Given the description of an element on the screen output the (x, y) to click on. 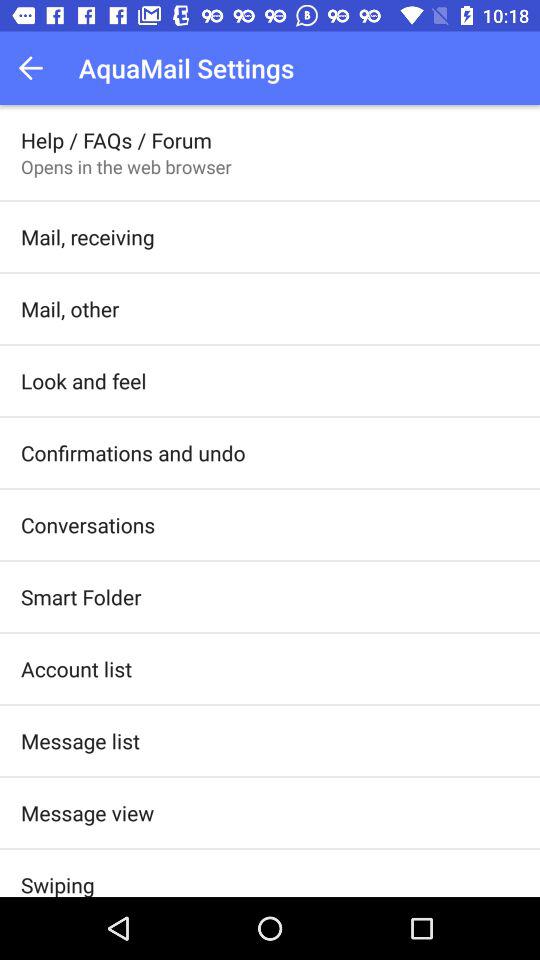
turn on the app below conversations app (81, 596)
